Given the description of an element on the screen output the (x, y) to click on. 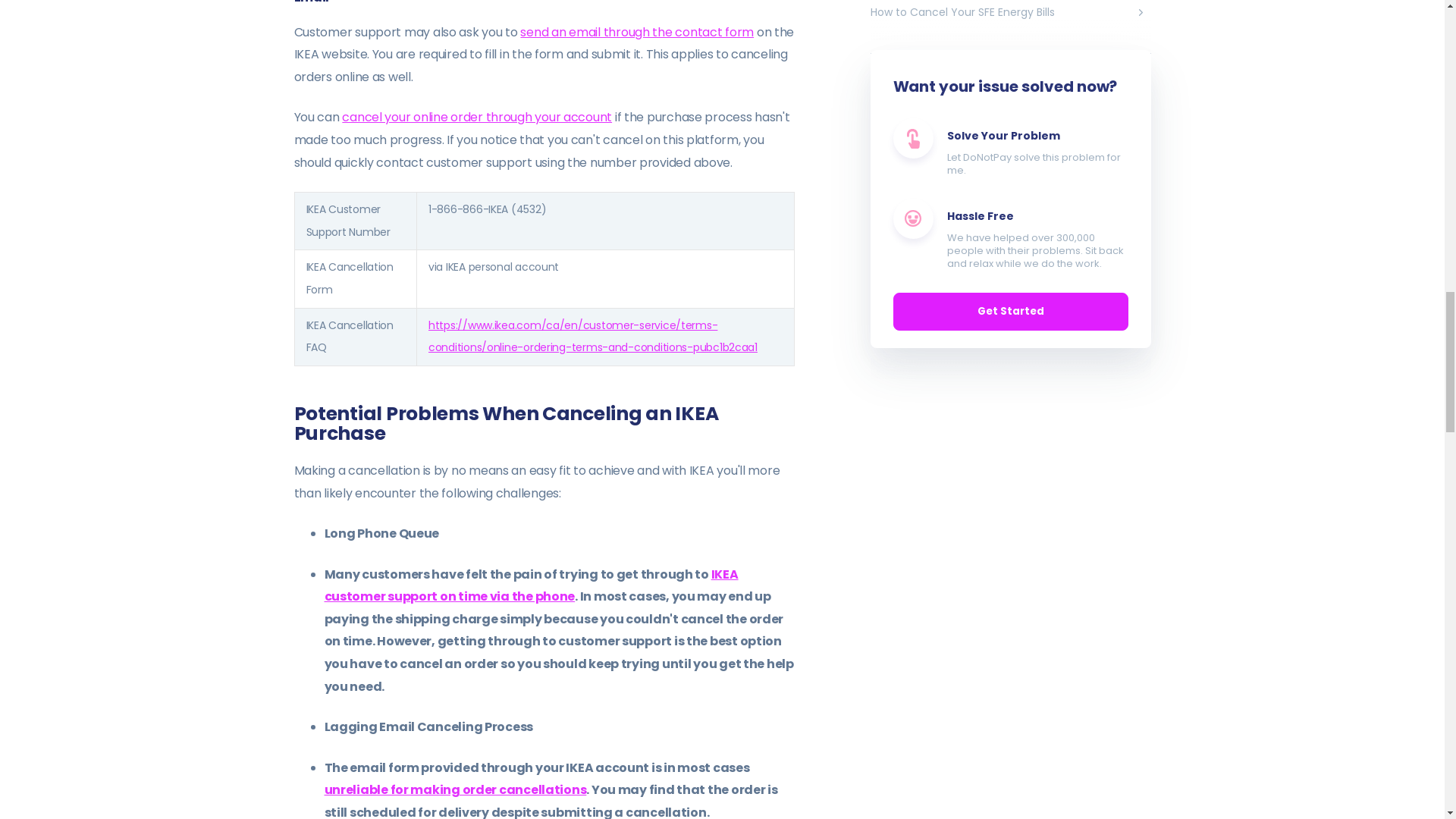
IKEA customer support on time via the phone (531, 585)
cancel your online order through your account (476, 117)
unreliable for making order cancellations (455, 789)
send an email through the contact form (636, 31)
